Given the description of an element on the screen output the (x, y) to click on. 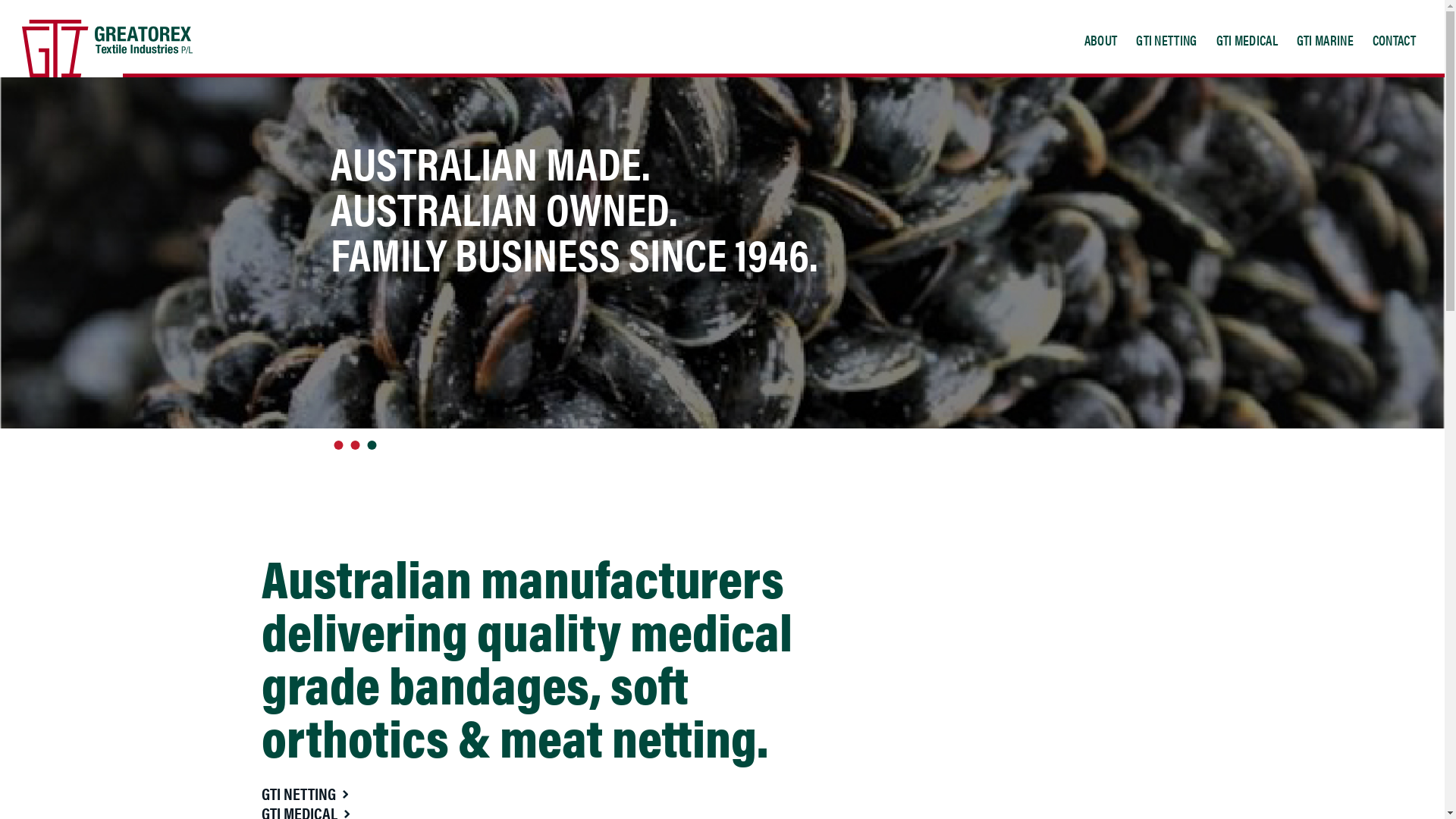
GTI MEDICAL Element type: text (1246, 39)
GTI NETTING Element type: text (1165, 39)
CONTACT Element type: text (1393, 39)
1 Element type: text (337, 444)
3 Element type: text (371, 444)
2 Element type: text (354, 444)
GTI MARINE Element type: text (1324, 39)
Greatorex Element type: hover (106, 48)
ABOUT Element type: text (1100, 39)
GTI NETTING Element type: text (303, 792)
